Given the description of an element on the screen output the (x, y) to click on. 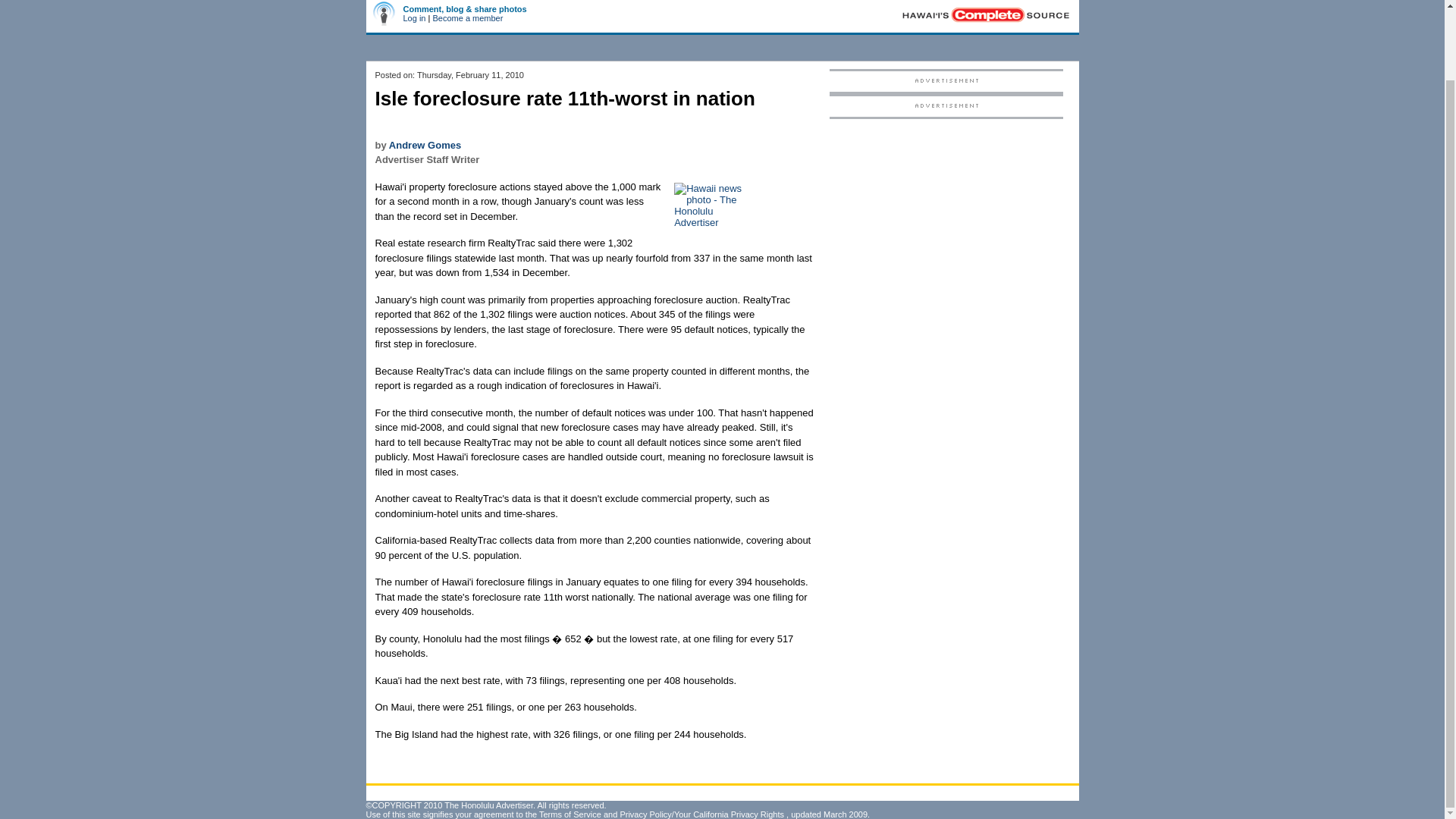
Log in (414, 17)
Become a member (467, 17)
Andrew Gomes (424, 144)
